Given the description of an element on the screen output the (x, y) to click on. 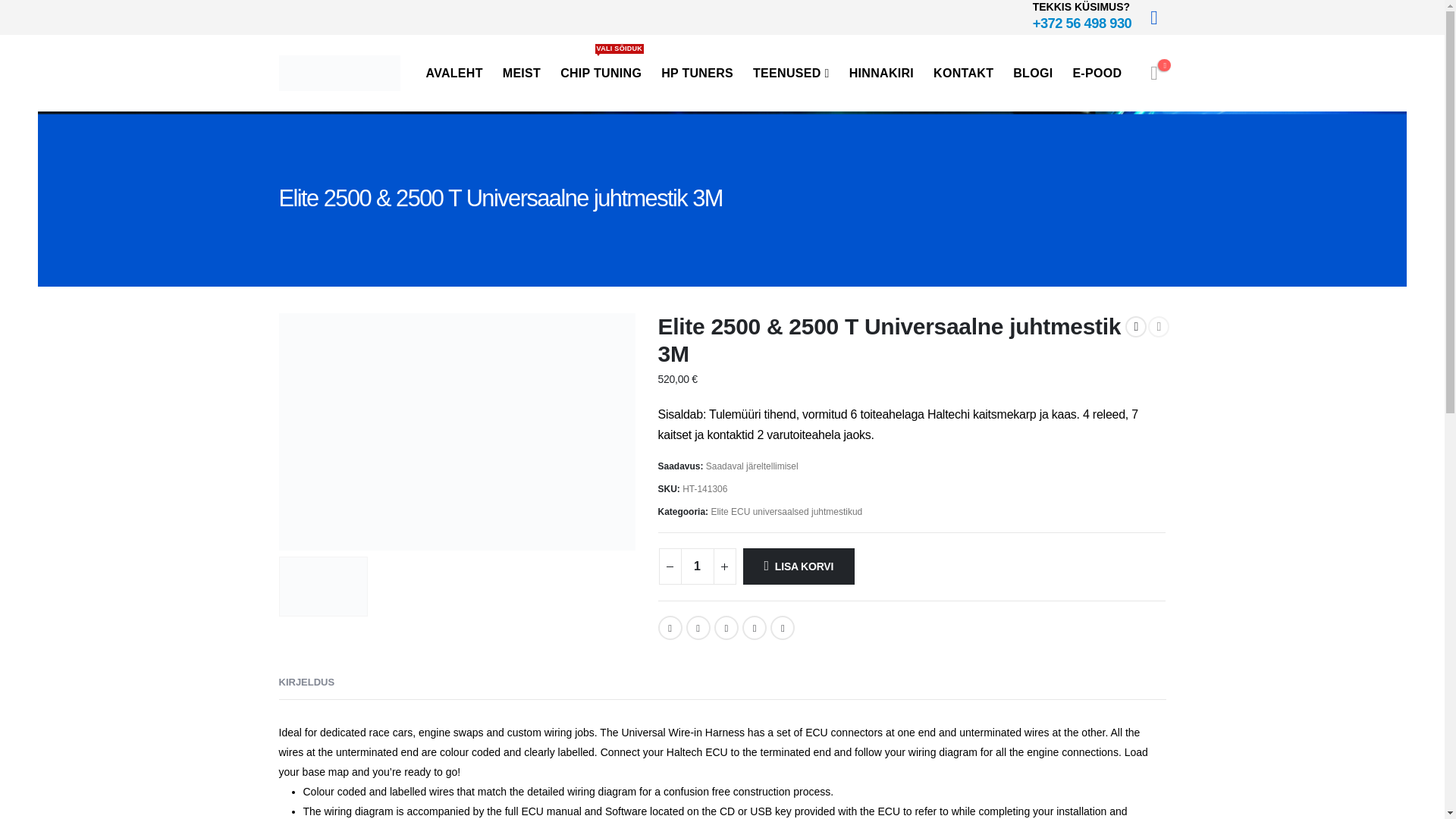
HP TUNERS (697, 73)
BLOGI (1033, 73)
LinkedIn (726, 627)
KONTAKT (963, 73)
HINNAKIRI (881, 73)
AVALEHT (454, 73)
TEENUSED (792, 73)
Email (782, 627)
LISA KORVI (799, 565)
Twitter (697, 627)
MEIST (521, 73)
1 (697, 565)
Email (782, 627)
Facebook (670, 627)
Twitter (697, 627)
